Given the description of an element on the screen output the (x, y) to click on. 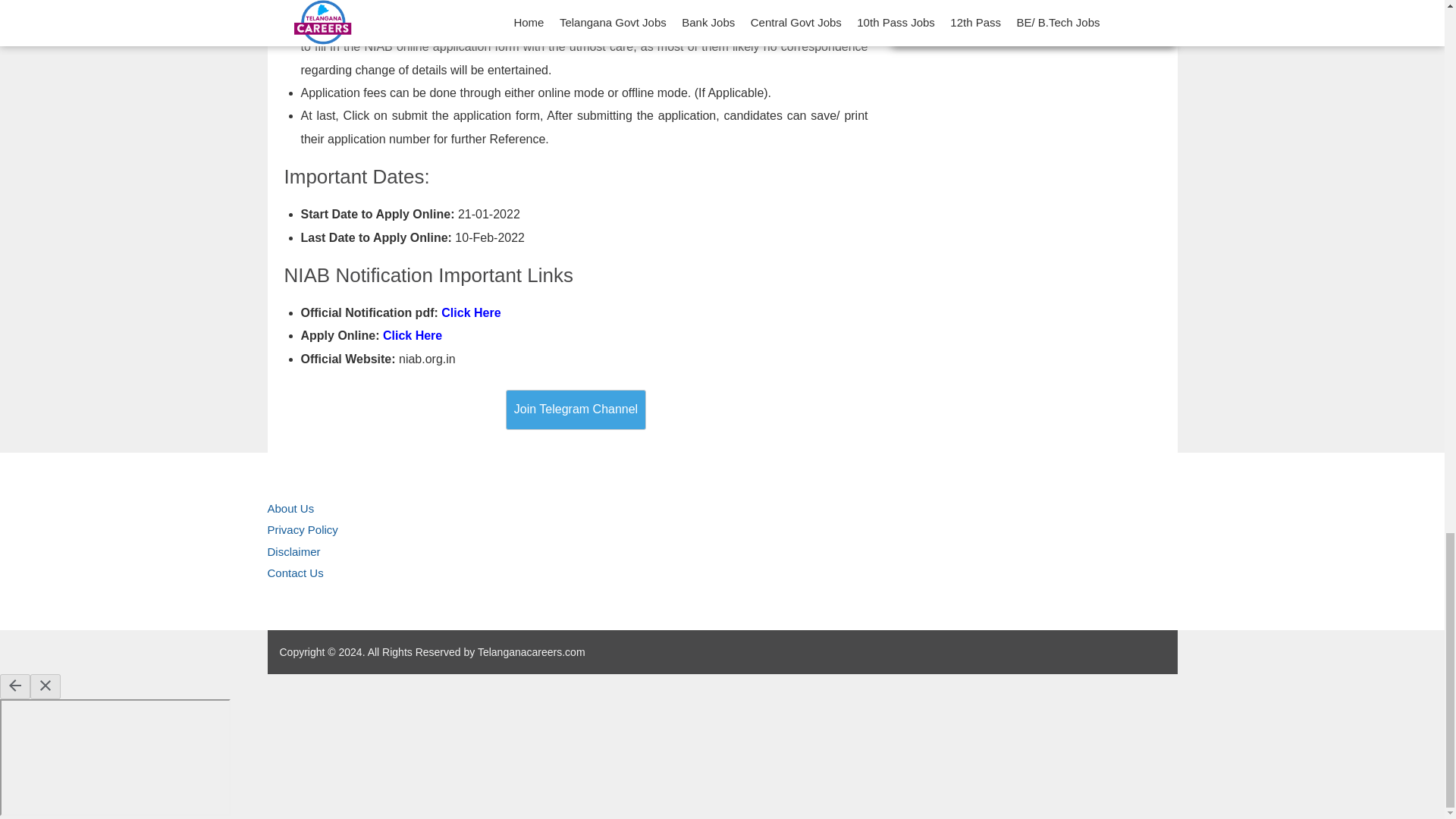
Click Here (412, 335)
Click Here (470, 312)
Join Telegram Channel (575, 409)
